Given the description of an element on the screen output the (x, y) to click on. 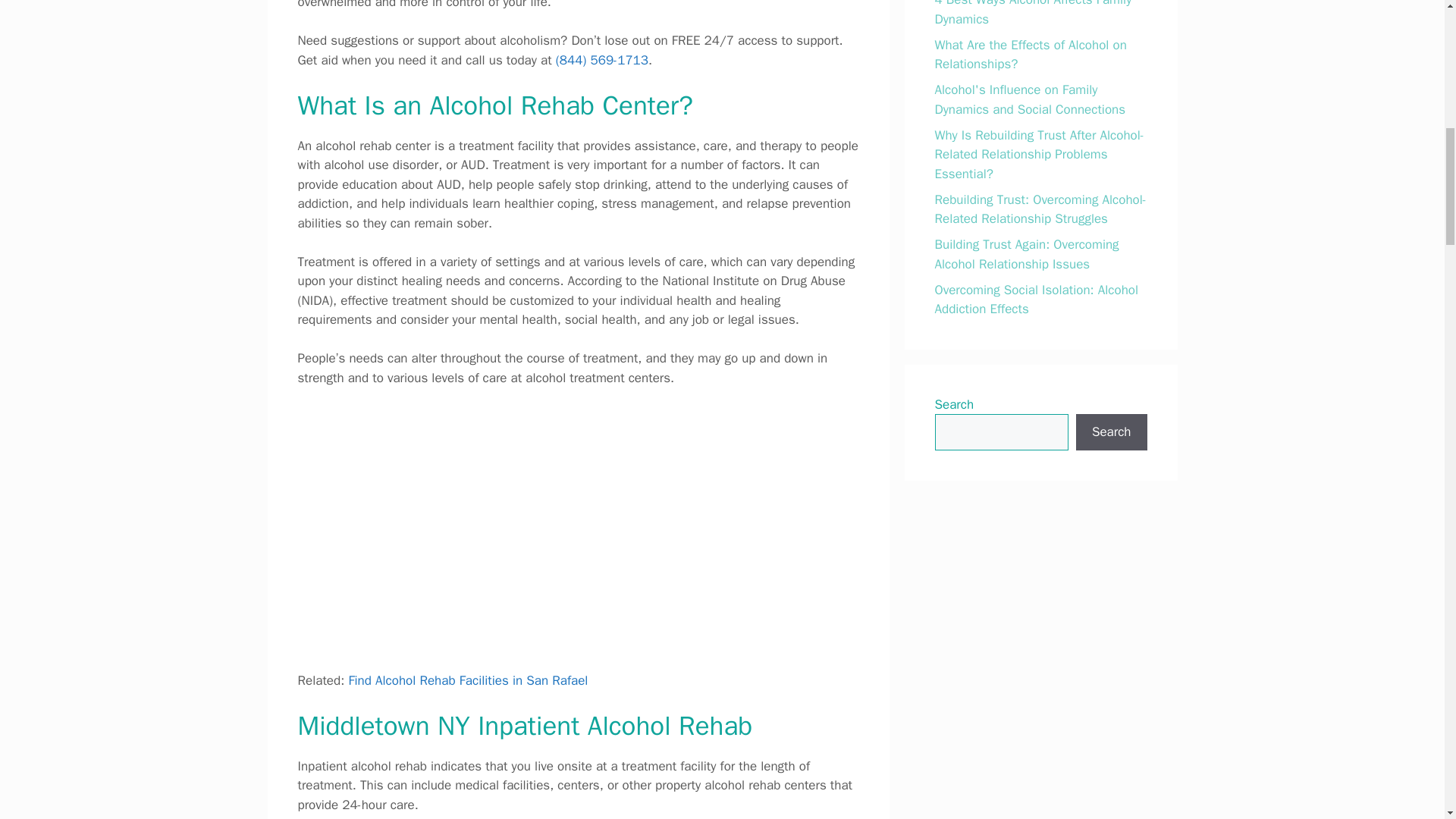
Find Alcohol Rehab Facilities in San Rafael (467, 680)
YouTube video player (577, 526)
Scroll back to top (1406, 720)
What Are the Effects of Alcohol on Relationships? (1029, 54)
Overcoming Social Isolation: Alcohol Addiction Effects (1036, 299)
4 Best Ways Alcohol Affects Family Dynamics (1032, 13)
Search (1111, 432)
Building Trust Again: Overcoming Alcohol Relationship Issues (1026, 253)
